Given the description of an element on the screen output the (x, y) to click on. 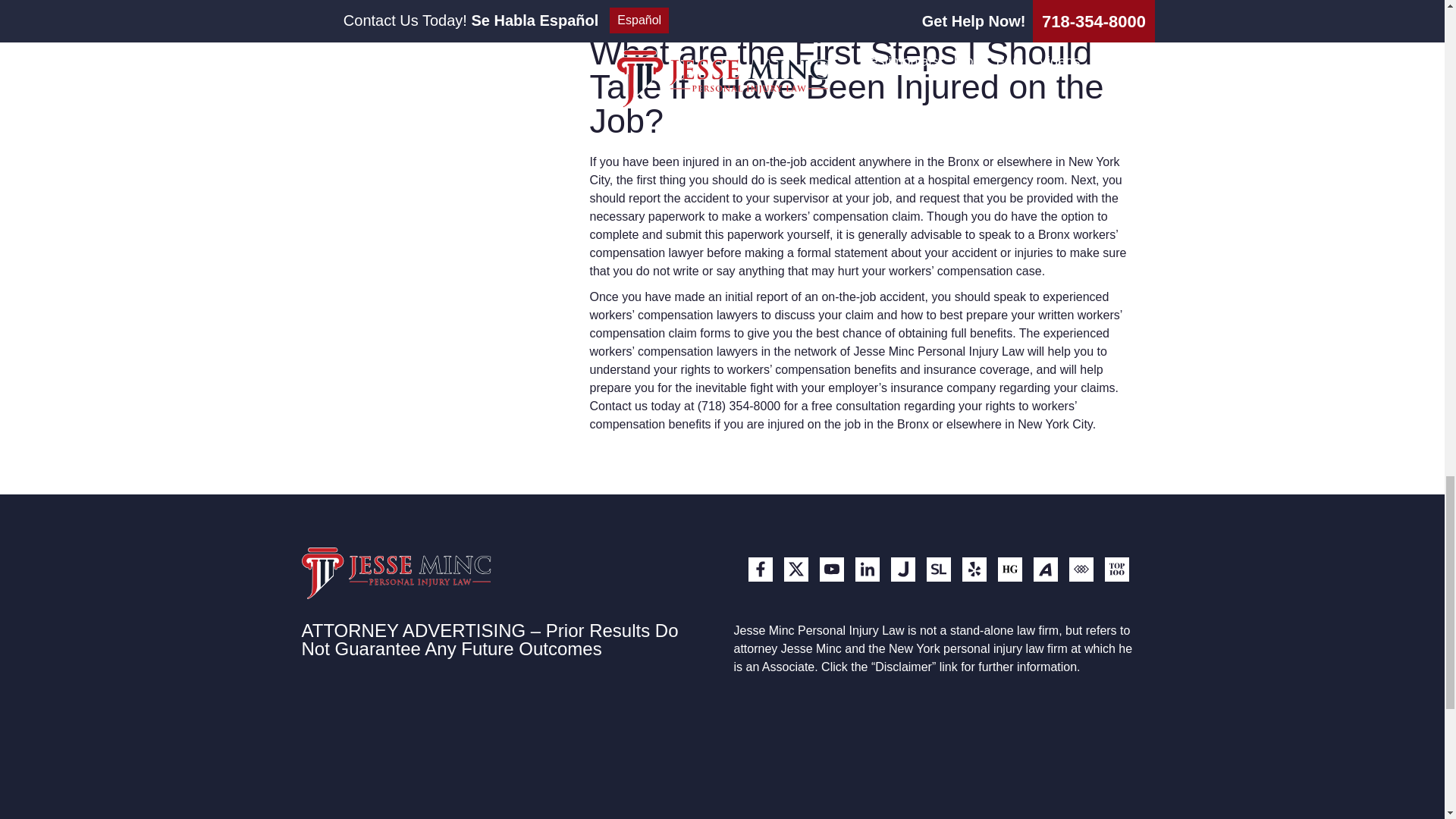
Youtube (830, 569)
Jesse Minc Personal Injury Law (396, 572)
Facebook (759, 569)
Linkedin (867, 569)
HG (1009, 569)
Avvo (1044, 569)
Justia (901, 569)
Yelp (972, 569)
Super Lawyers (938, 569)
Twitter (796, 569)
